Given the description of an element on the screen output the (x, y) to click on. 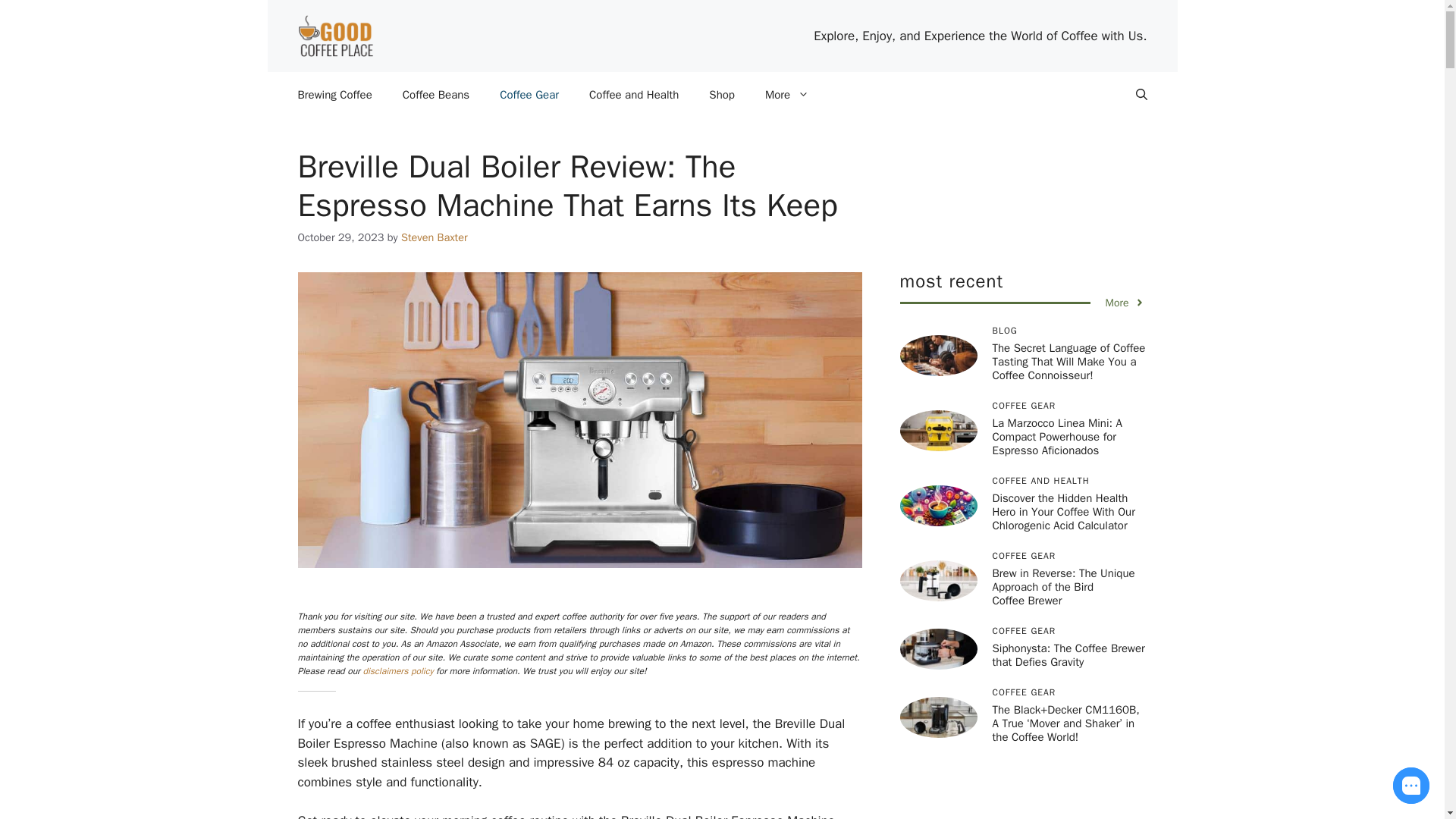
Shop (721, 94)
Coffee and Health (633, 94)
Steven Baxter (434, 237)
disclaimers policy (397, 671)
More (786, 94)
View all posts by Steven Baxter (434, 237)
Coffee Beans (435, 94)
Brewing Coffee (334, 94)
Coffee Gear (528, 94)
